Given the description of an element on the screen output the (x, y) to click on. 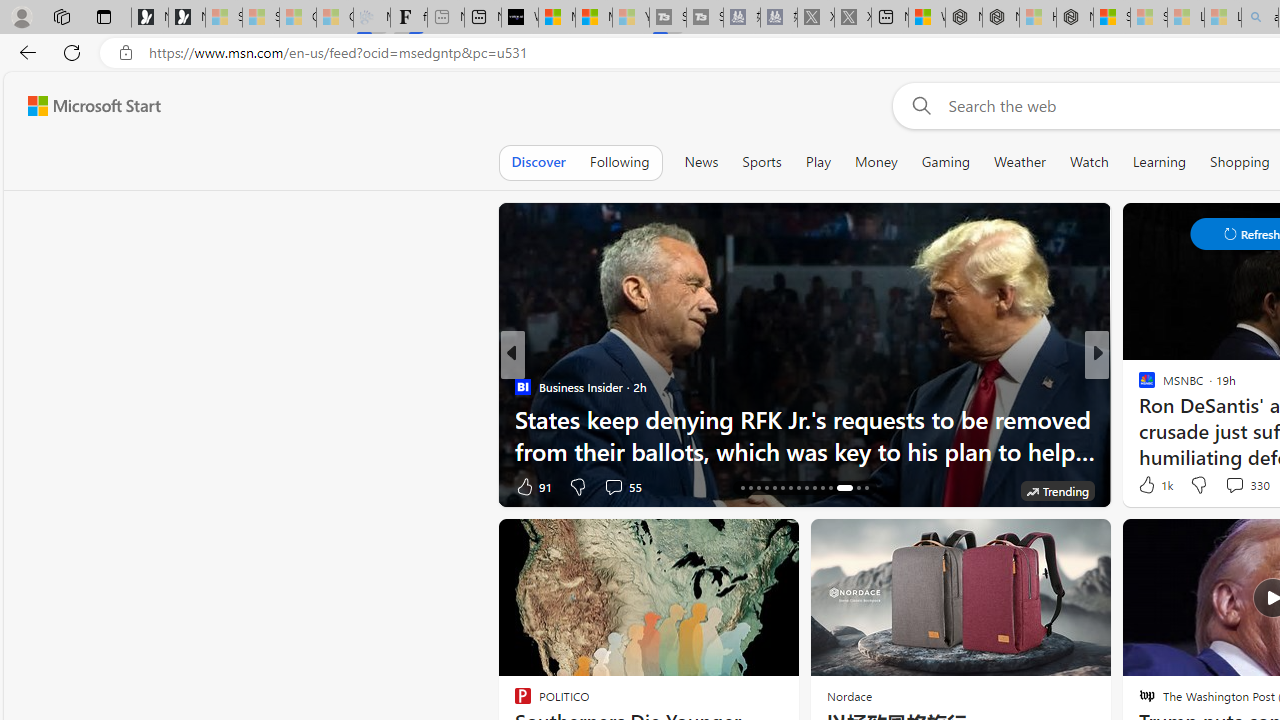
Gaming (945, 161)
AutomationID: tab-29 (857, 487)
Skip to content (86, 105)
AutomationID: tab-30 (865, 487)
This story is trending (1057, 490)
View comments 353 Comment (11, 485)
